Given the description of an element on the screen output the (x, y) to click on. 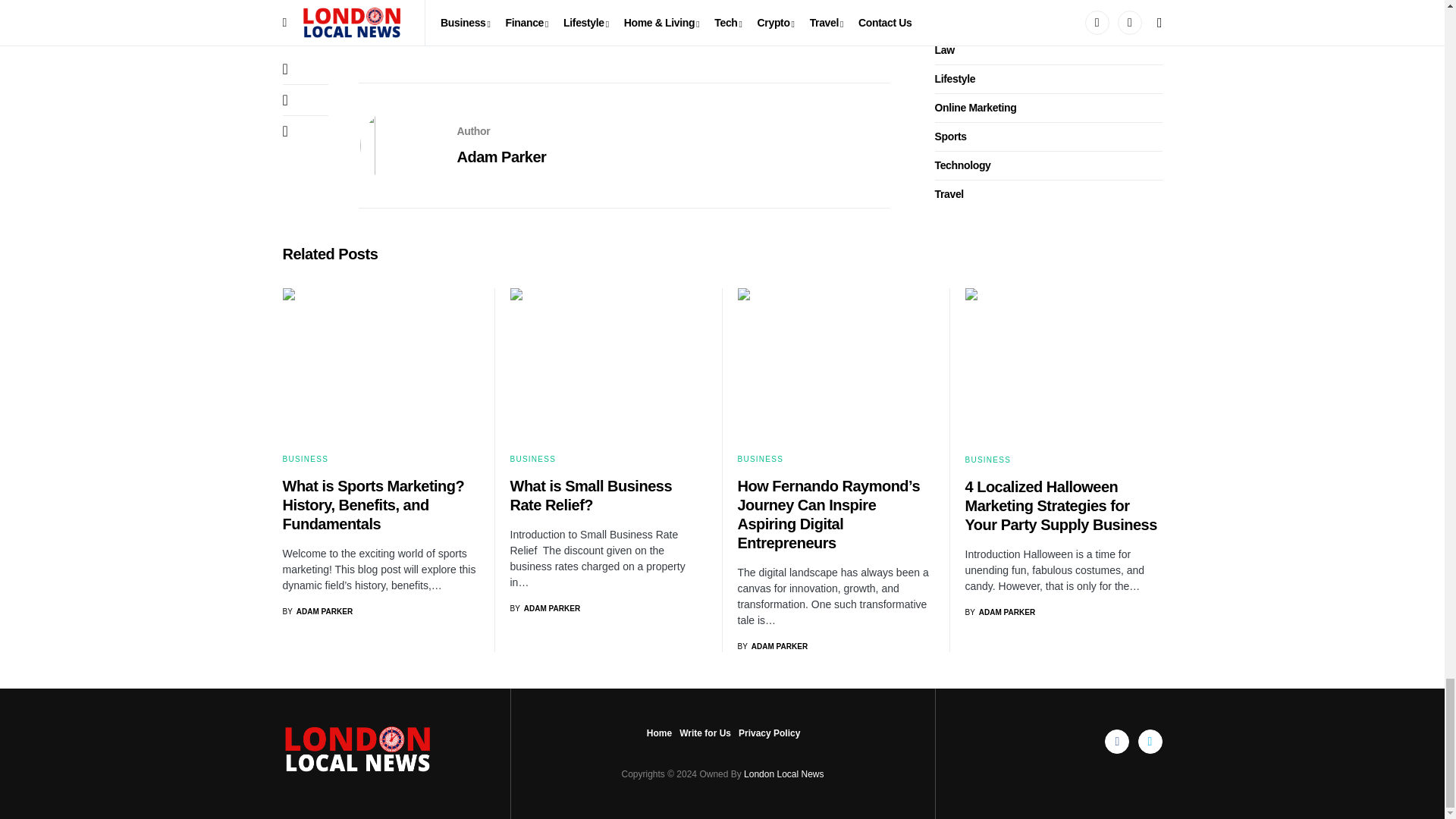
View all posts by Adam Parker (544, 608)
View all posts by Adam Parker (999, 612)
View all posts by Adam Parker (772, 645)
View all posts by Adam Parker (317, 611)
